Given the description of an element on the screen output the (x, y) to click on. 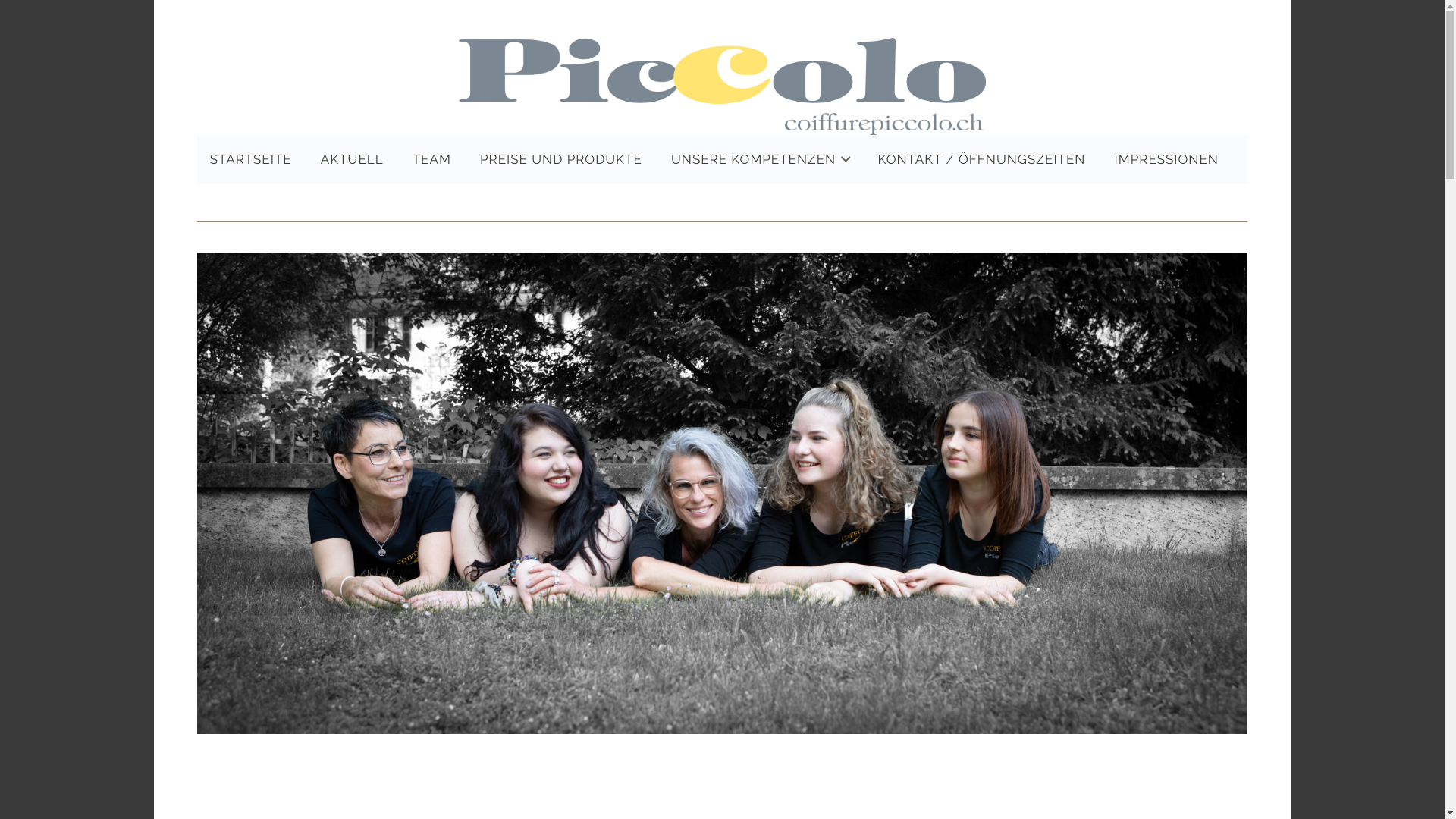
PREISE UND PRODUKTE Element type: text (561, 158)
Coiffure Piccolo Element type: hover (721, 85)
STARTSEITE Element type: text (250, 158)
IMPRESSIONEN Element type: text (1166, 158)
AKTUELL Element type: text (351, 158)
TEAM Element type: text (431, 158)
